Given the description of an element on the screen output the (x, y) to click on. 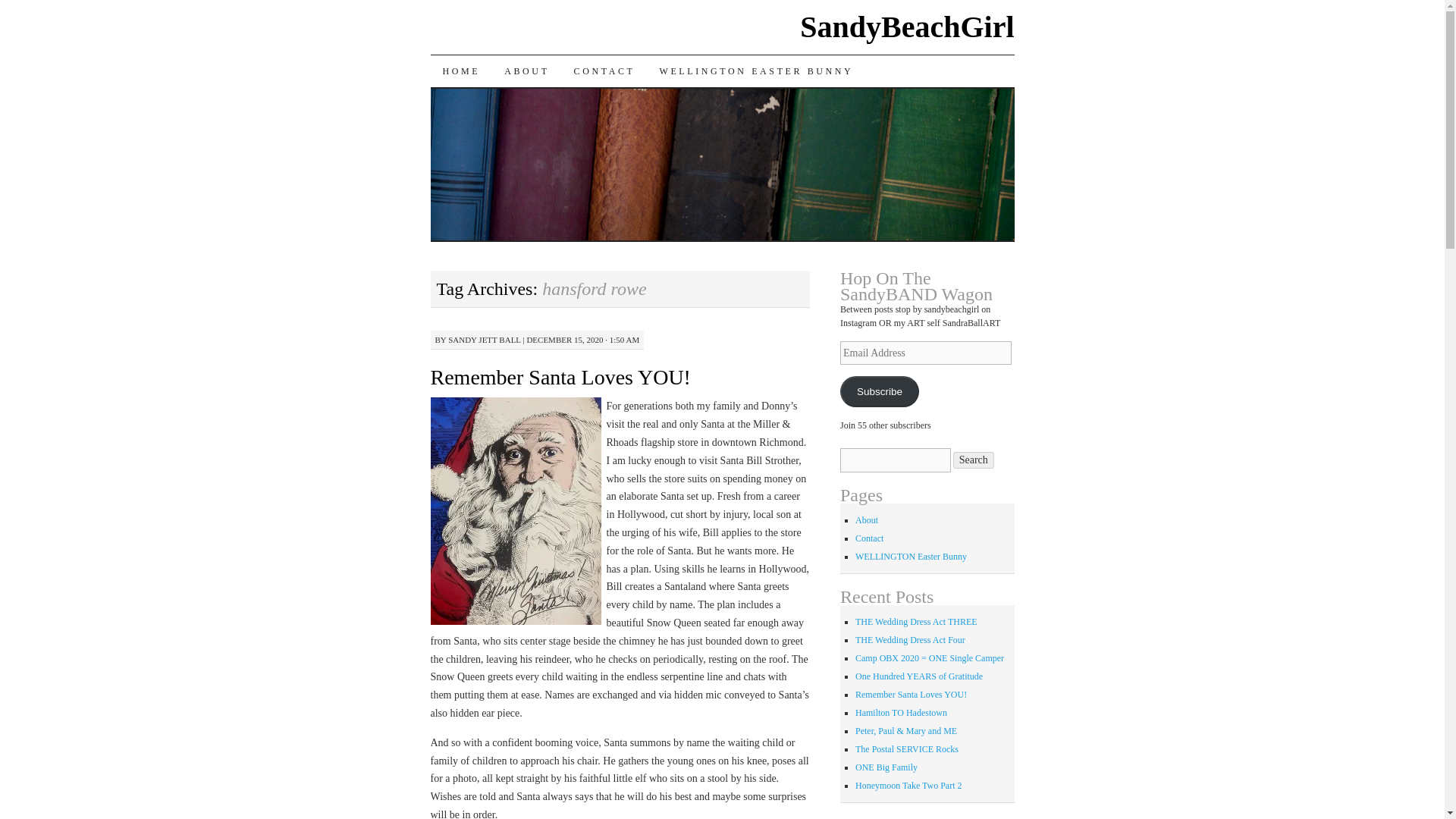
WELLINGTON Easter Bunny (911, 556)
About (866, 520)
Subscribe (879, 391)
View all posts by sandy jett ball (484, 338)
SANDY JETT BALL (484, 338)
Search (973, 460)
CONTACT (604, 70)
SandyBeachGirl (906, 26)
Contact (869, 538)
SandyBeachGirl (906, 26)
HOME (461, 70)
Search (973, 460)
WELLINGTON EASTER BUNNY (755, 70)
Remember Santa Loves YOU! (560, 377)
ABOUT (526, 70)
